Given the description of an element on the screen output the (x, y) to click on. 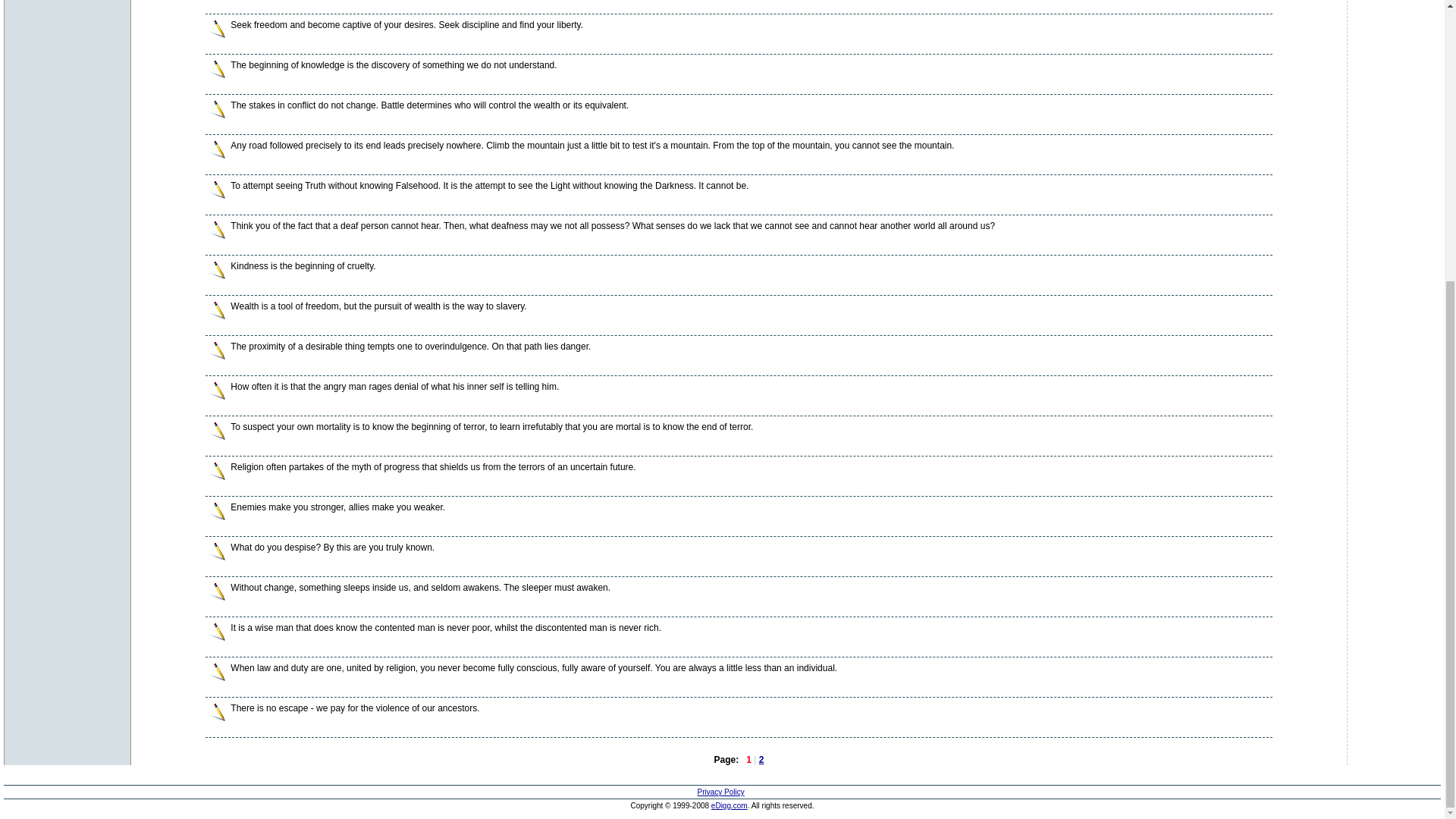
eDigg.com (729, 805)
Privacy Policy (720, 791)
